Given the description of an element on the screen output the (x, y) to click on. 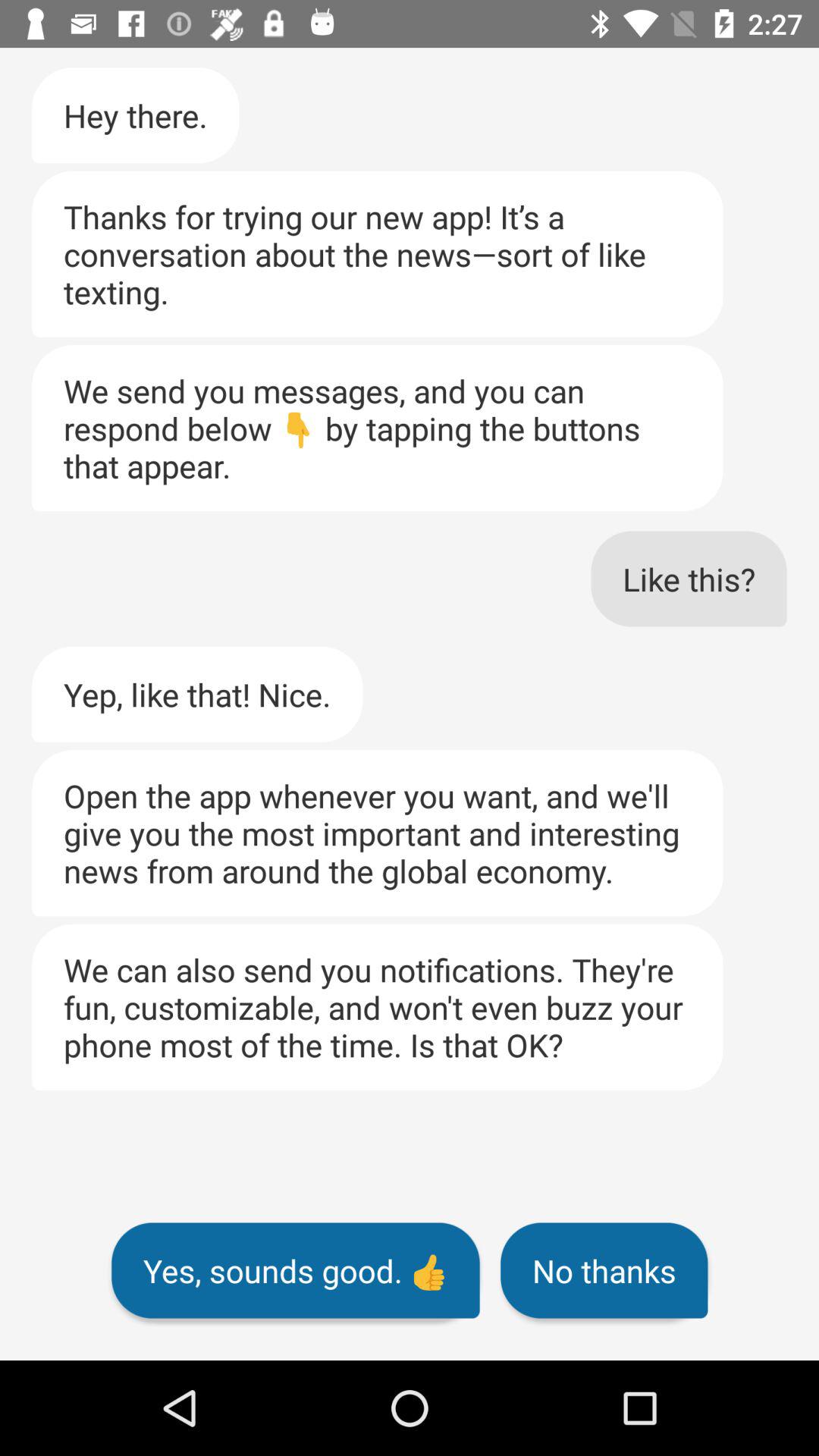
open the item below we can also icon (295, 1270)
